Given the description of an element on the screen output the (x, y) to click on. 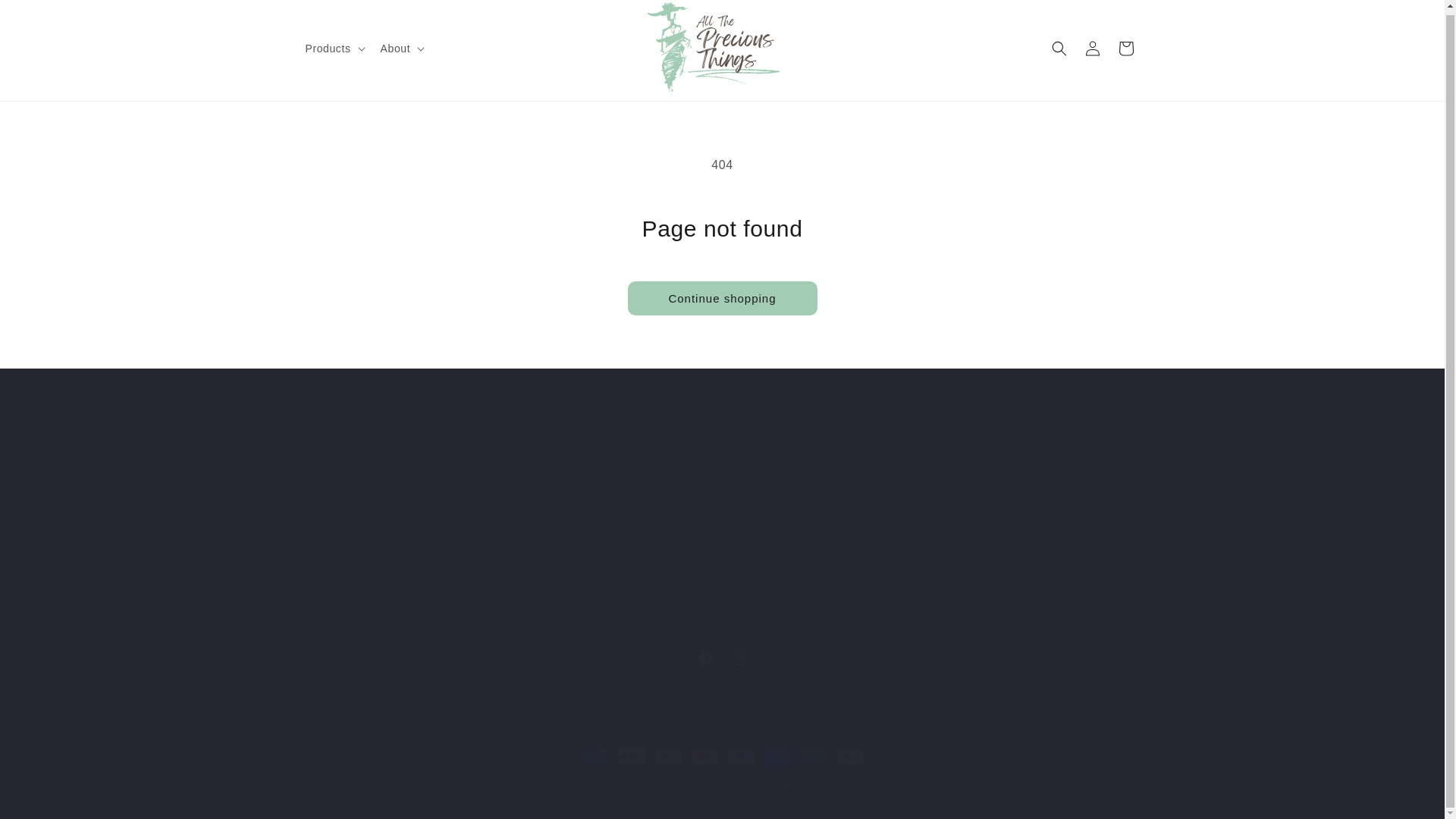
Skip to content (94, 14)
